Given the description of an element on the screen output the (x, y) to click on. 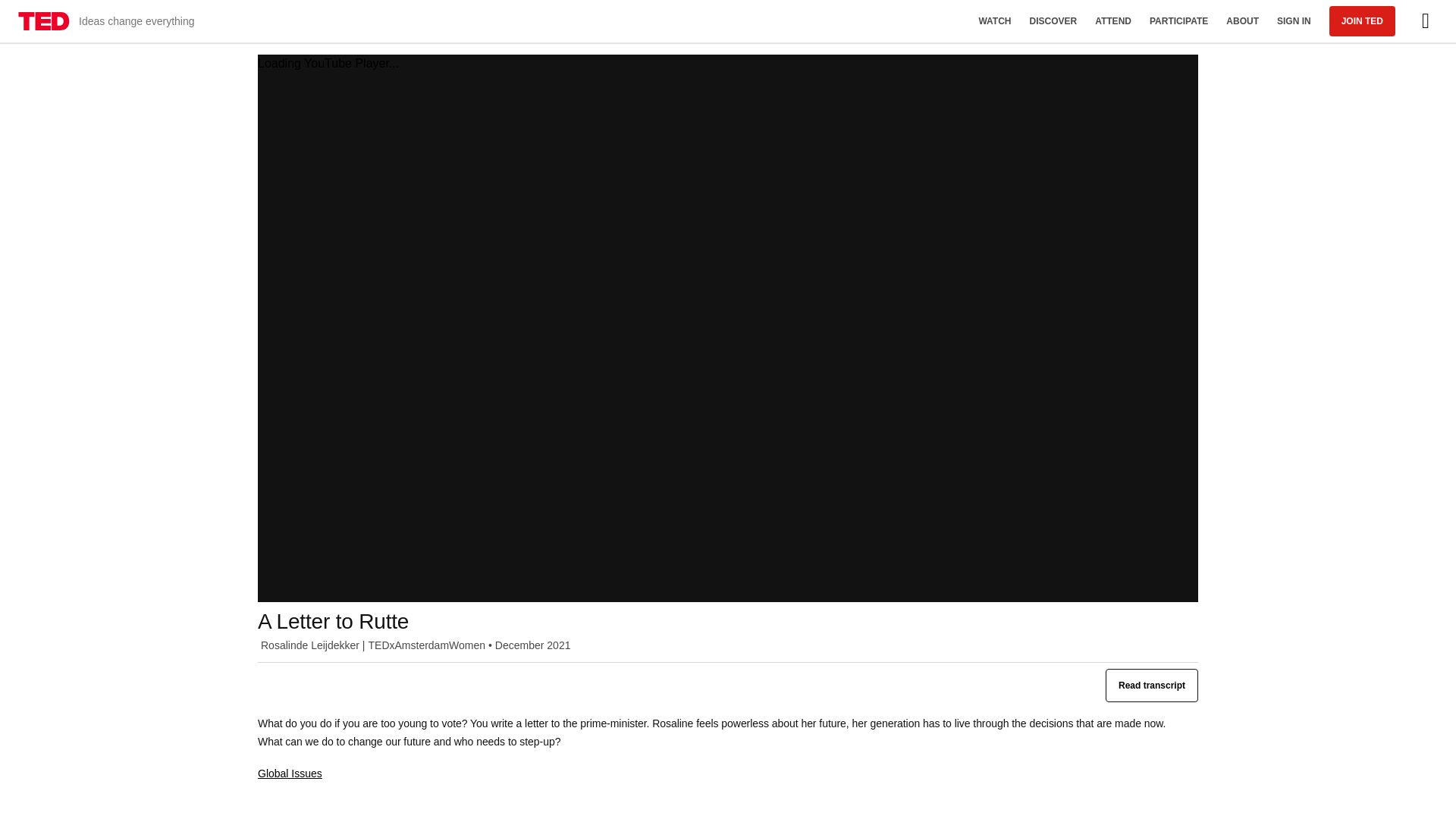
ATTEND (1113, 21)
Global Issues (289, 773)
DISCOVER (1053, 21)
Read transcript (1151, 685)
Ideas change everything (106, 21)
SIGN IN (1294, 21)
PARTICIPATE (1178, 21)
WATCH (994, 21)
JOIN TED (1361, 20)
ABOUT (1242, 21)
